Given the description of an element on the screen output the (x, y) to click on. 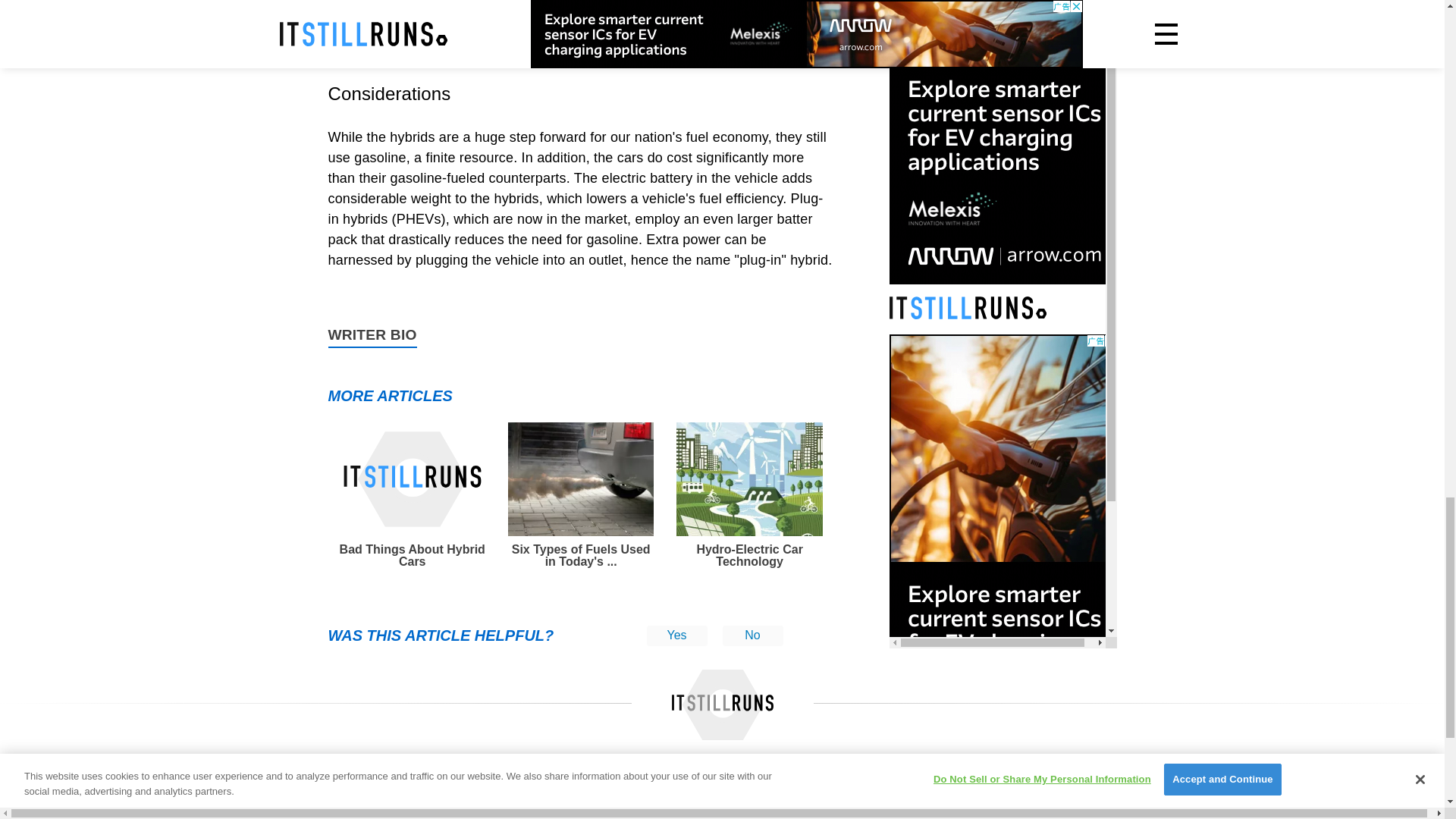
Yes (676, 635)
No (752, 635)
Six Types of Fuels Used in Today's ... (580, 495)
Hydro-Electric Car Technology (749, 495)
Bad Things About Hybrid Cars (411, 495)
